Given the description of an element on the screen output the (x, y) to click on. 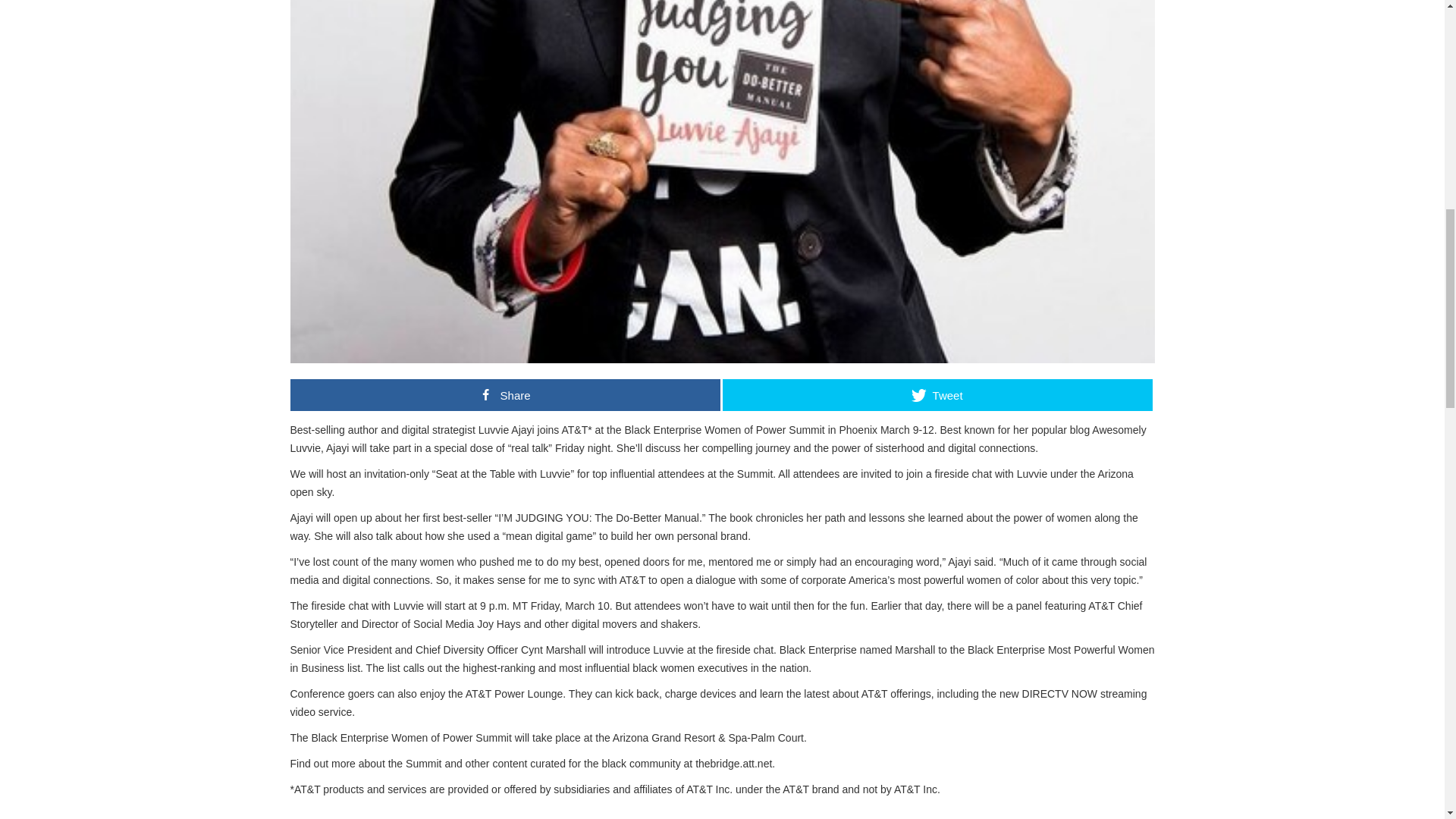
Tweet (936, 395)
Awesomely Luvvie (717, 439)
Share (504, 395)
thebridge.att.net (733, 763)
